Given the description of an element on the screen output the (x, y) to click on. 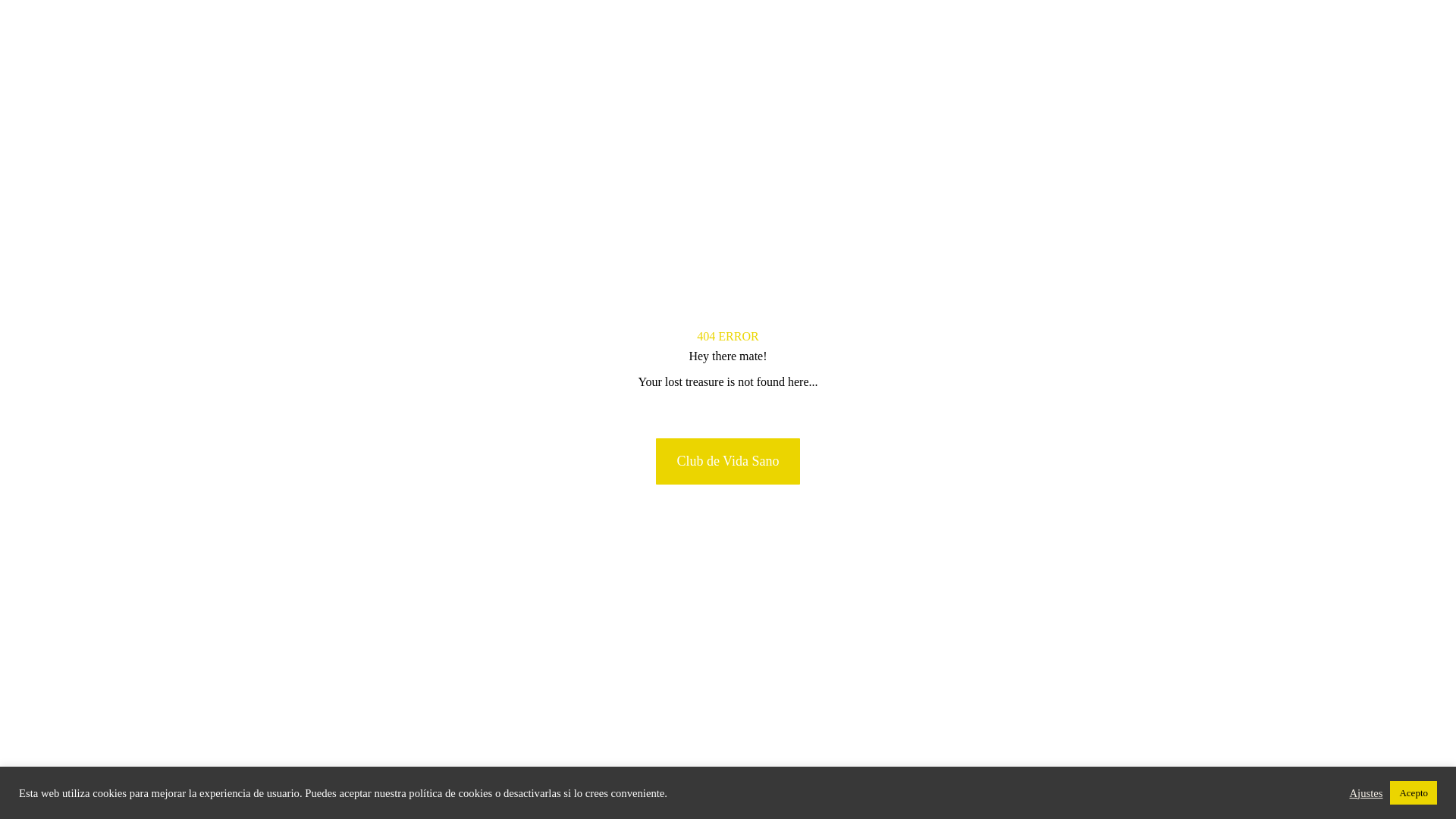
Club de Vida Sano (726, 461)
Ajustes (1365, 792)
Acepto (1413, 792)
